Given the description of an element on the screen output the (x, y) to click on. 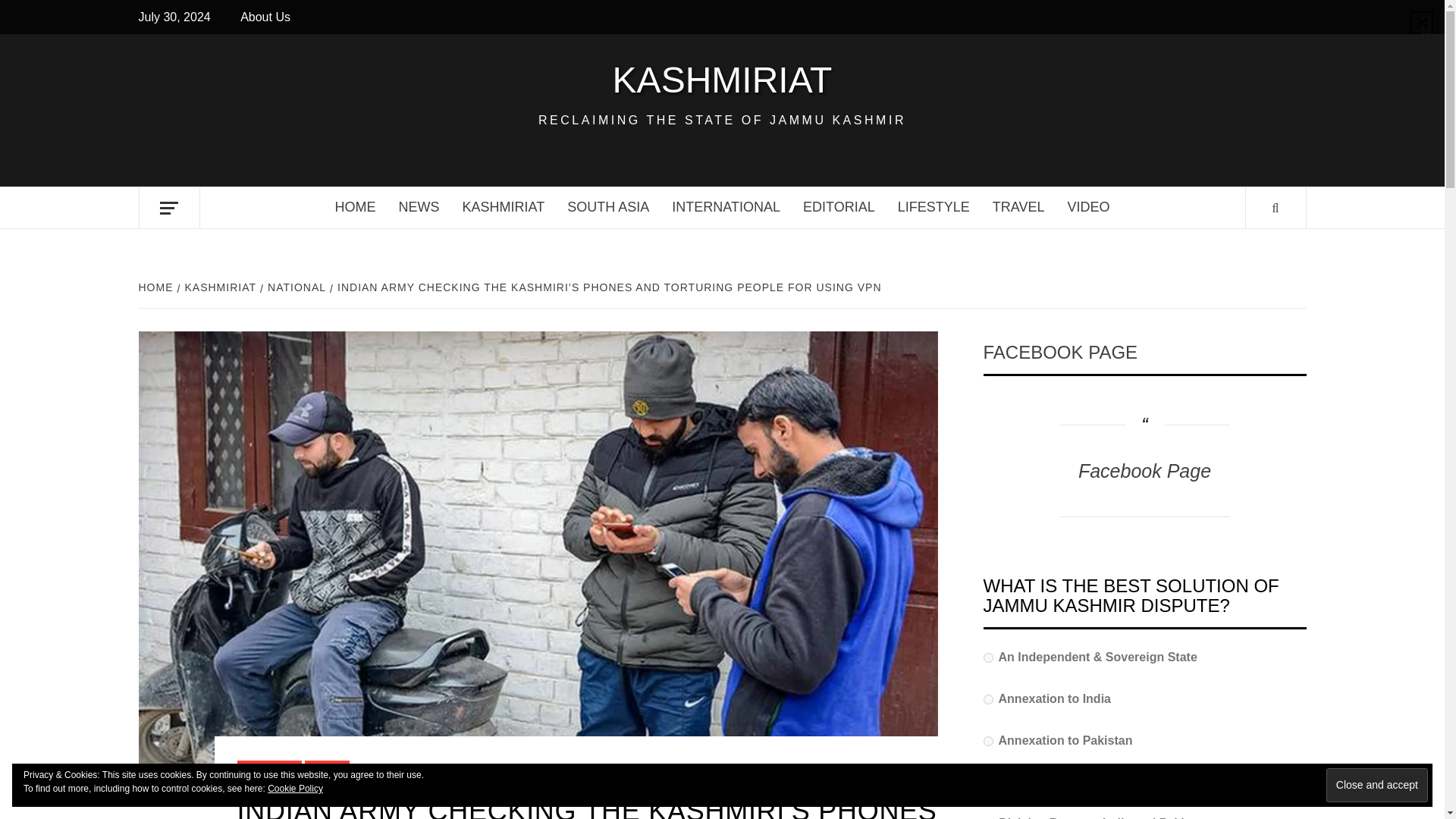
HOME (157, 287)
EDITORIAL (839, 207)
Close and accept (1377, 785)
TRAVEL (1019, 207)
KASHMIRIAT (218, 287)
NEWS (326, 768)
NEWS (419, 207)
INTERNATIONAL (726, 207)
KASHMIRIAT (721, 80)
NATIONAL (295, 287)
NATIONAL (268, 768)
About Us (269, 17)
KASHMIRIAT (503, 207)
SOUTH ASIA (608, 207)
HOME (355, 207)
